Given the description of an element on the screen output the (x, y) to click on. 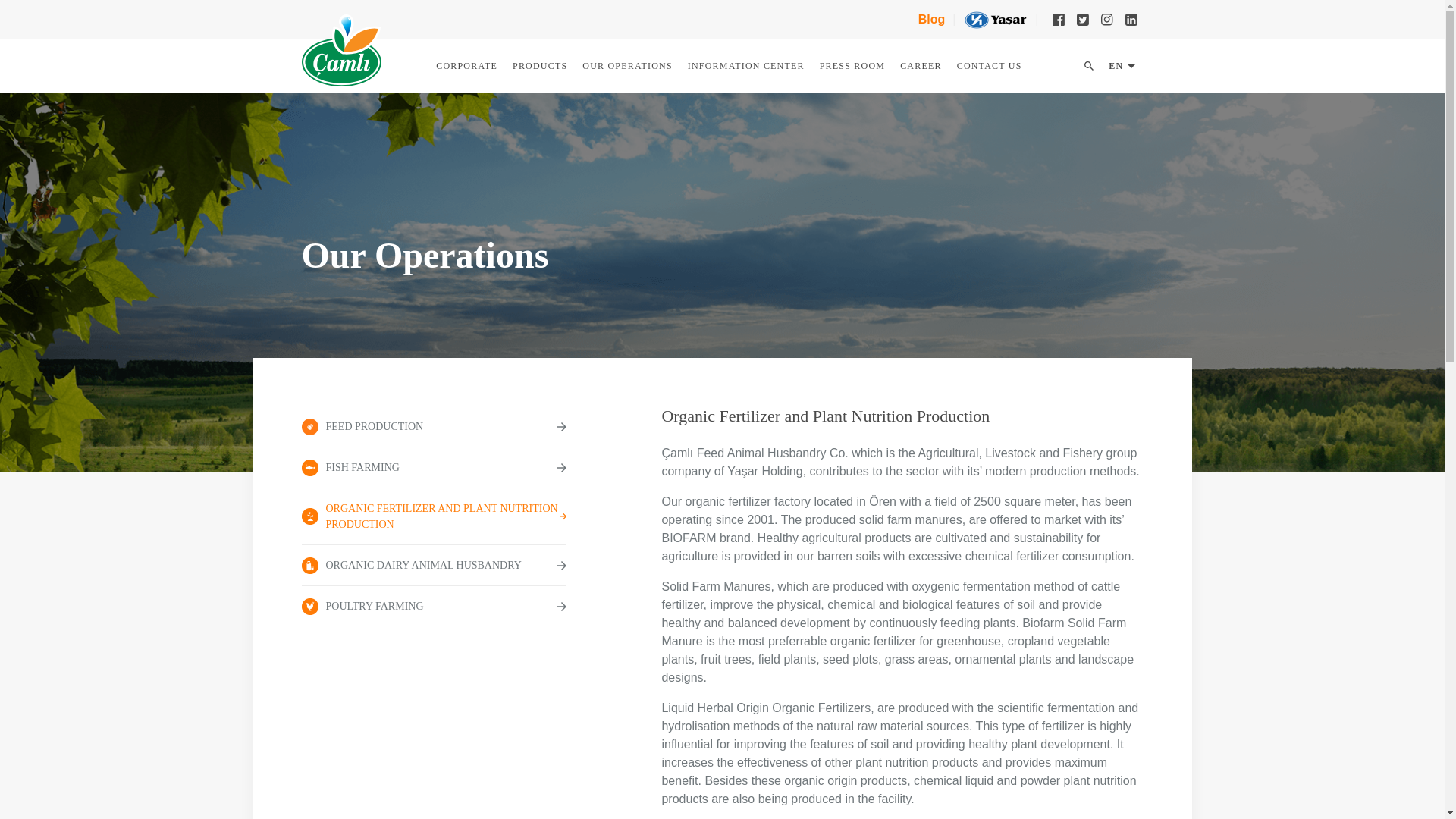
PRODUCTS (540, 65)
Instagram (1106, 19)
Twitter (1082, 19)
FISH FARMING (434, 467)
LinkedIn (1130, 19)
ORGANIC FERTILIZER AND PLANT NUTRITION PRODUCTION (434, 516)
ORGANIC DAIRY ANIMAL HUSBANDRY (434, 565)
FEED PRODUCTION (434, 426)
PRESS ROOM (852, 65)
Facebook (1058, 19)
INFORMATION CENTER (745, 65)
OUR OPERATIONS (627, 65)
CONTACT US (989, 65)
POULTRY FARMING (434, 606)
Blog (931, 19)
